Given the description of an element on the screen output the (x, y) to click on. 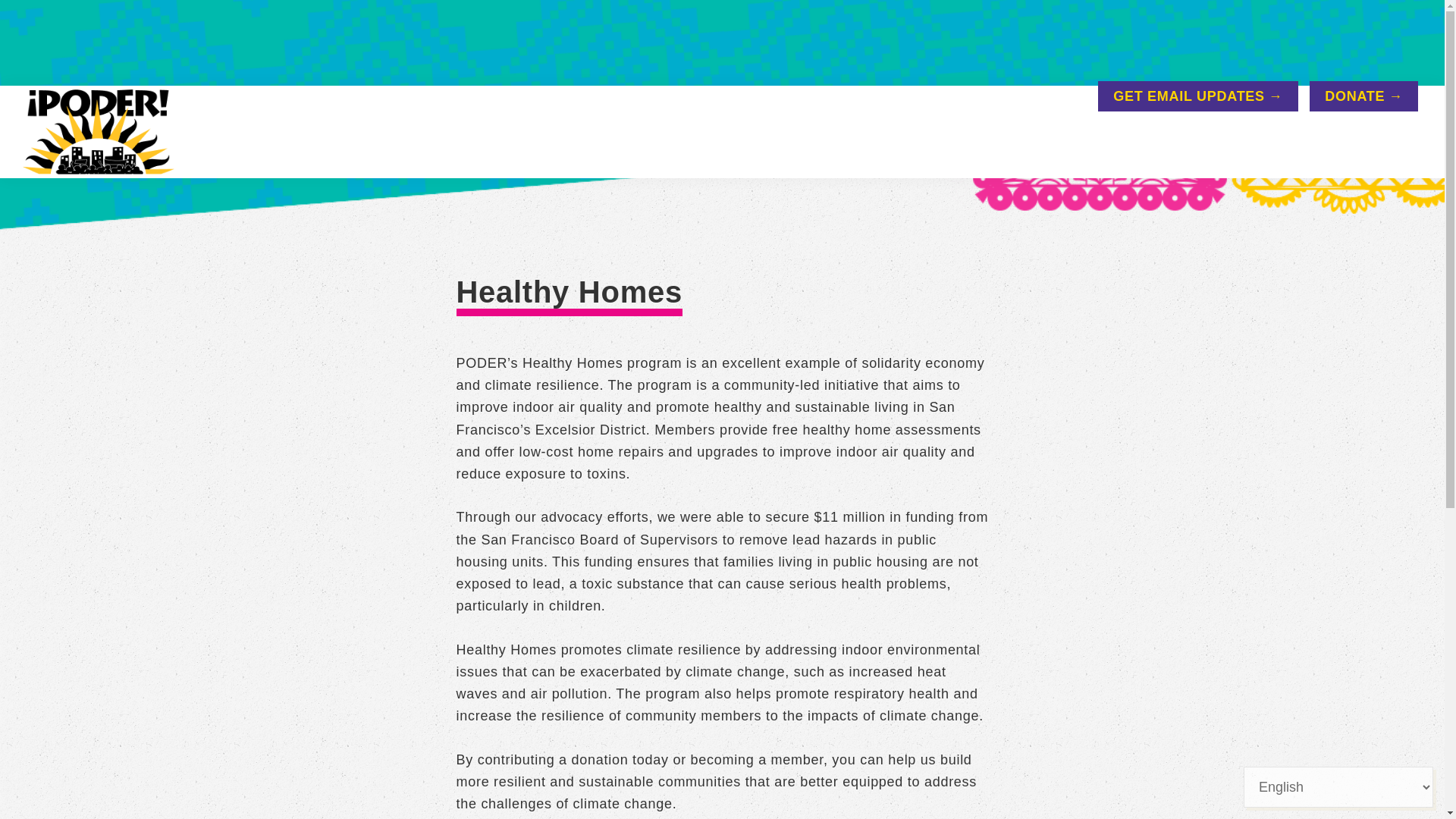
CALENDAR (1140, 143)
GET EMAIL UPDATES (1197, 96)
OUR WORK (896, 143)
DONATE (1363, 96)
RESOURCES (1019, 143)
ABOUT (795, 143)
